Given the description of an element on the screen output the (x, y) to click on. 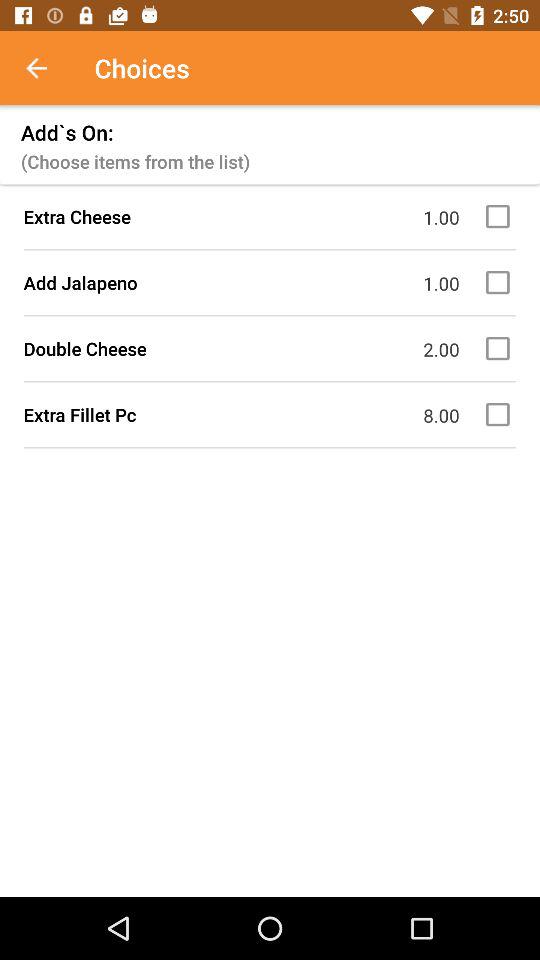
select given option (501, 282)
